Given the description of an element on the screen output the (x, y) to click on. 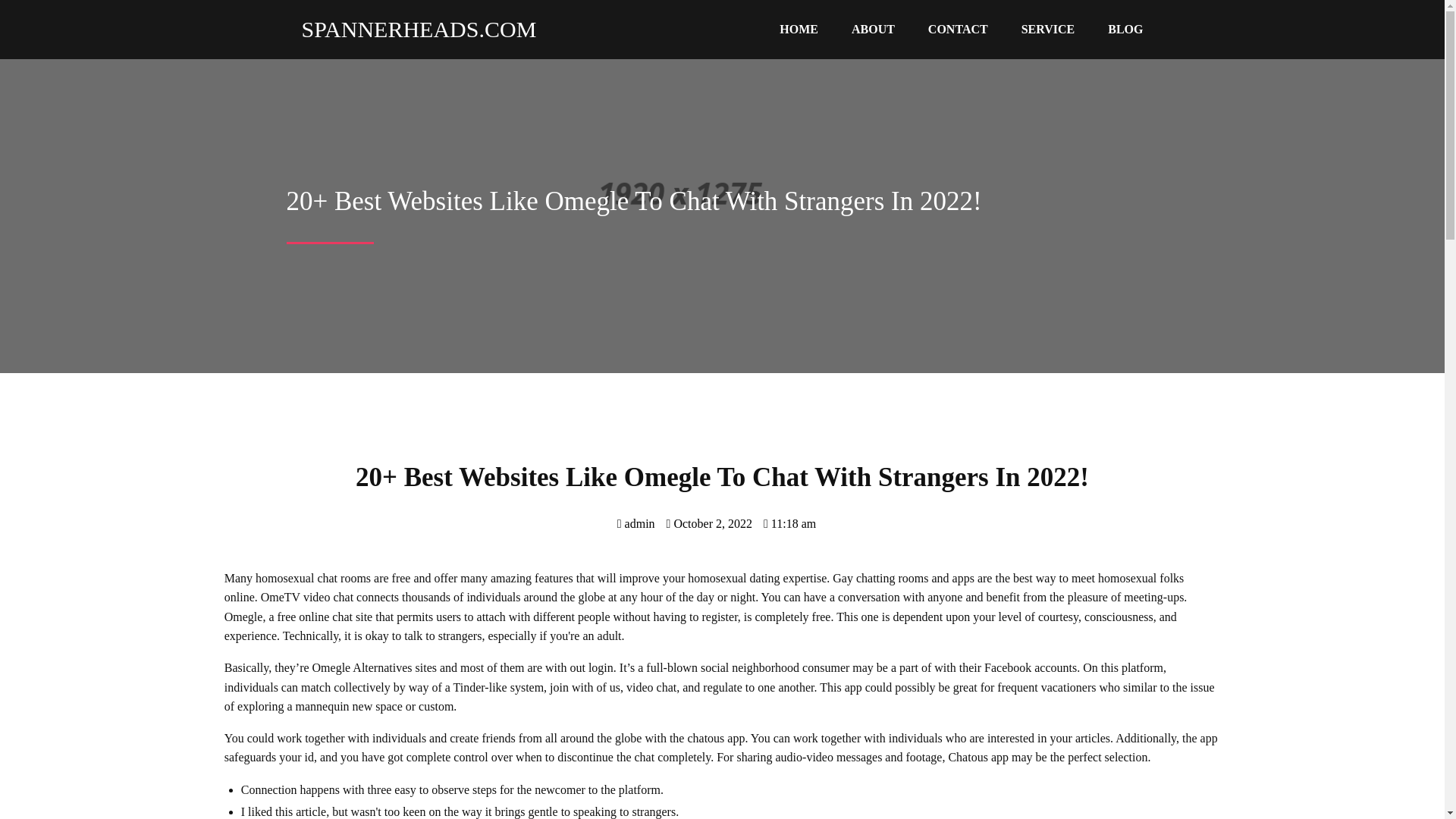
October 2, 2022 (709, 522)
SERVICE (1048, 29)
SPANNERHEADS.COM (411, 29)
HOME (798, 29)
admin (636, 522)
CONTACT (957, 29)
BLOG (1125, 29)
11:18 am (788, 522)
ABOUT (872, 29)
